Given the description of an element on the screen output the (x, y) to click on. 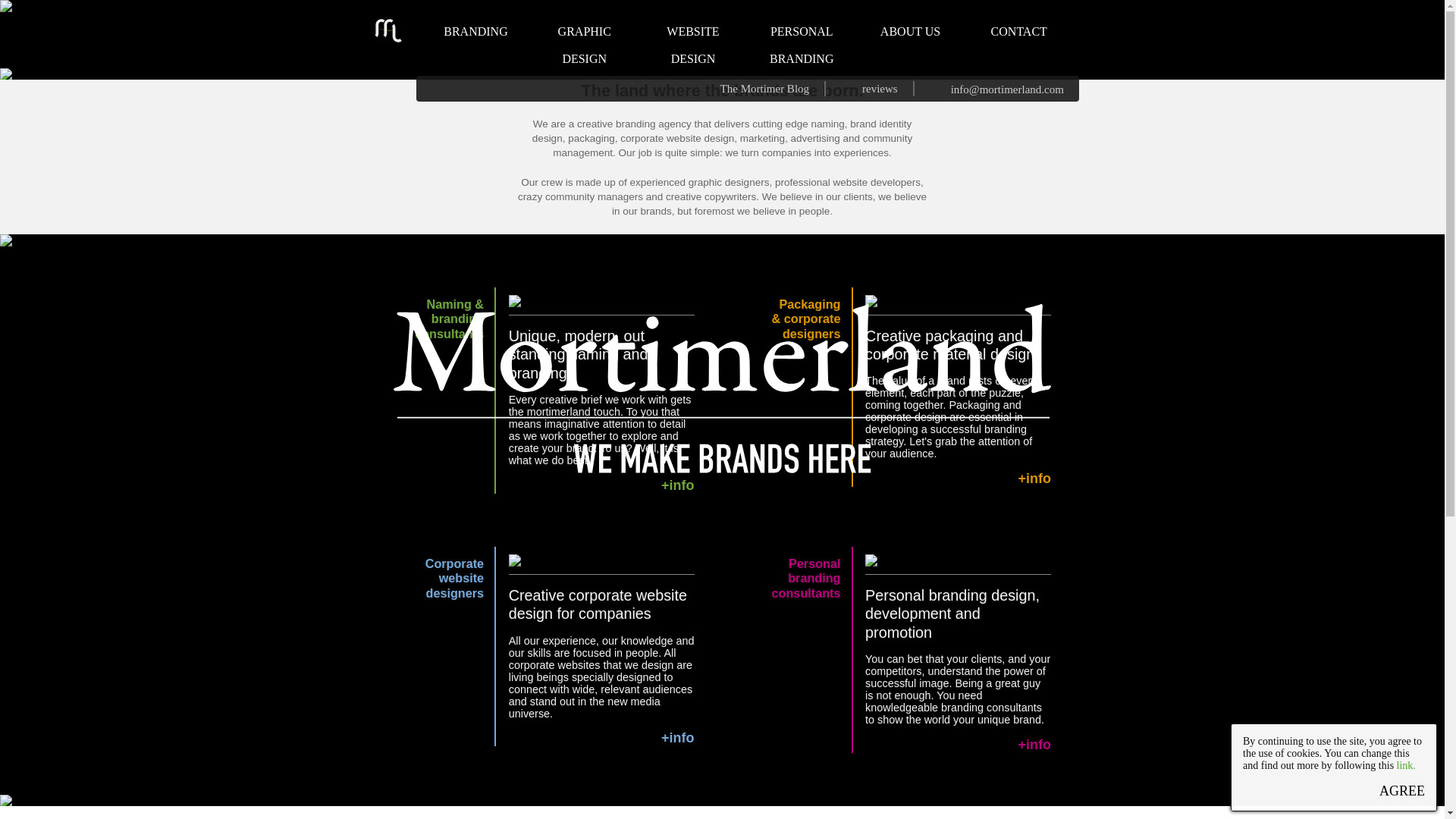
Personal branding design, development and promotion (951, 614)
follow us on google plus (455, 87)
corporate website design company (692, 39)
follow us on profile (429, 87)
personal branding consultants (801, 39)
naming and branding consultants (448, 318)
WEBSITE DESIGN (692, 39)
PERSONAL BRANDING (801, 39)
link. (1405, 765)
reviews (875, 88)
